Given the description of an element on the screen output the (x, y) to click on. 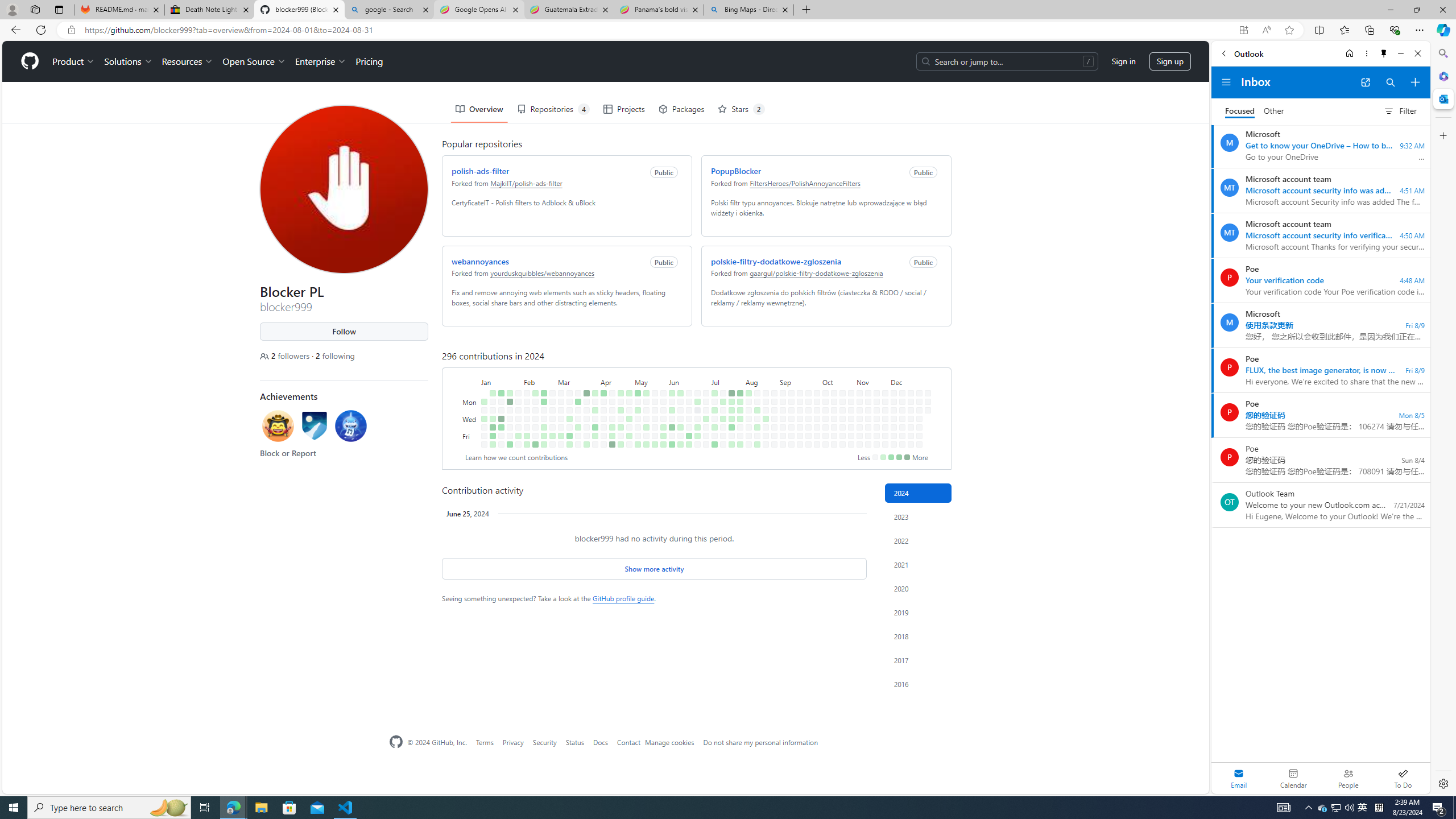
To Do (1402, 777)
Events (718, 69)
Events-Banner-Ad.jpg (848, 629)
Resources (763, 69)
Focused (1239, 110)
ACCEPT (880, 775)
